Given the description of an element on the screen output the (x, y) to click on. 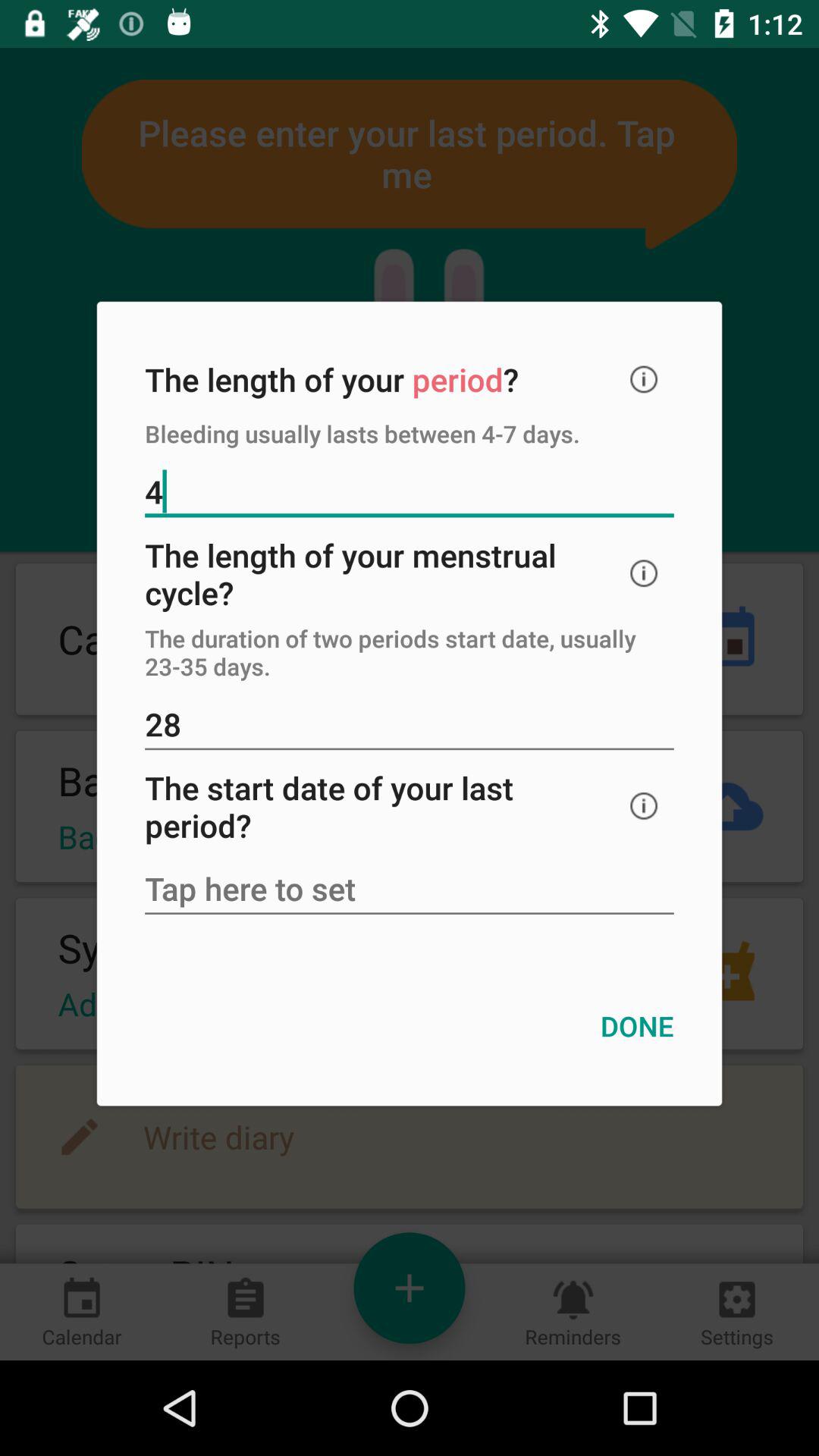
open icon to the right of the the length of item (643, 379)
